Given the description of an element on the screen output the (x, y) to click on. 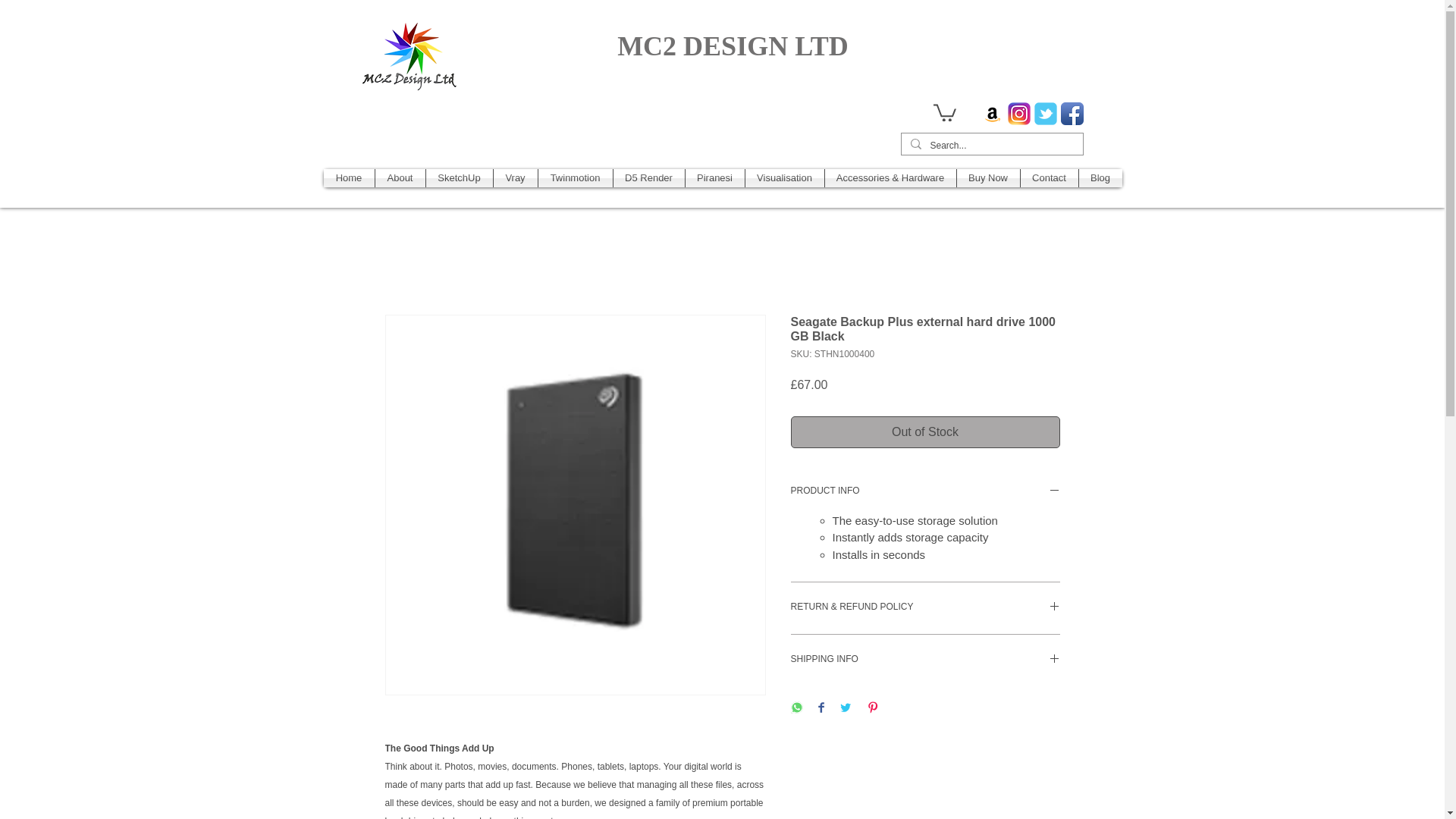
D5 Render (648, 177)
SketchUp (459, 177)
About (399, 177)
Twinmotion (575, 177)
Home (348, 177)
Vray (515, 177)
Piranesi (714, 177)
Visualisation (784, 177)
Buy Now (988, 177)
